Given the description of an element on the screen output the (x, y) to click on. 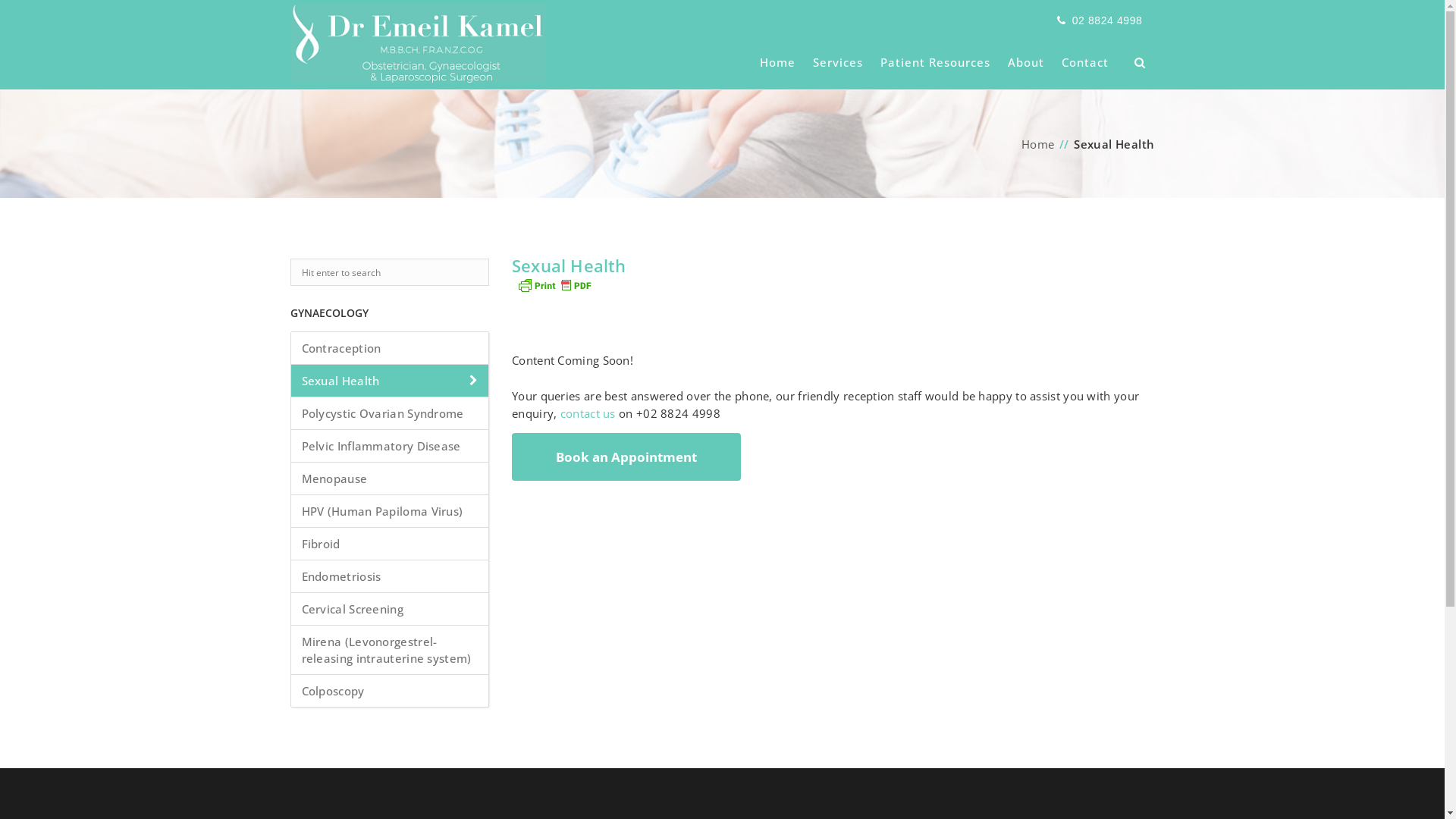
Cervical Screening Element type: text (390, 609)
Polycystic Ovarian Syndrome Element type: text (390, 413)
02 8824 4998 Element type: text (1107, 20)
Services Element type: text (837, 55)
contact us Element type: text (587, 412)
Contact Element type: text (1084, 55)
Home Element type: text (1037, 143)
About Element type: text (1025, 55)
HPV (Human Papiloma Virus) Element type: text (390, 511)
Colposcopy Element type: text (390, 690)
Home Element type: text (777, 55)
Fibroid Element type: text (390, 543)
Endometriosis Element type: text (390, 576)
Mirena (Levonorgestrel-releasing intrauterine system) Element type: text (390, 649)
Pelvic Inflammatory Disease Element type: text (390, 445)
Dr Emeil Kamel Element type: hover (417, 59)
Book an Appointment Element type: text (625, 456)
Sexual Health Element type: text (390, 380)
Menopause Element type: text (390, 478)
Patient Resources Element type: text (934, 55)
Contraception Element type: text (390, 348)
Printer Friendly, PDF & Email Element type: hover (553, 283)
